Given the description of an element on the screen output the (x, y) to click on. 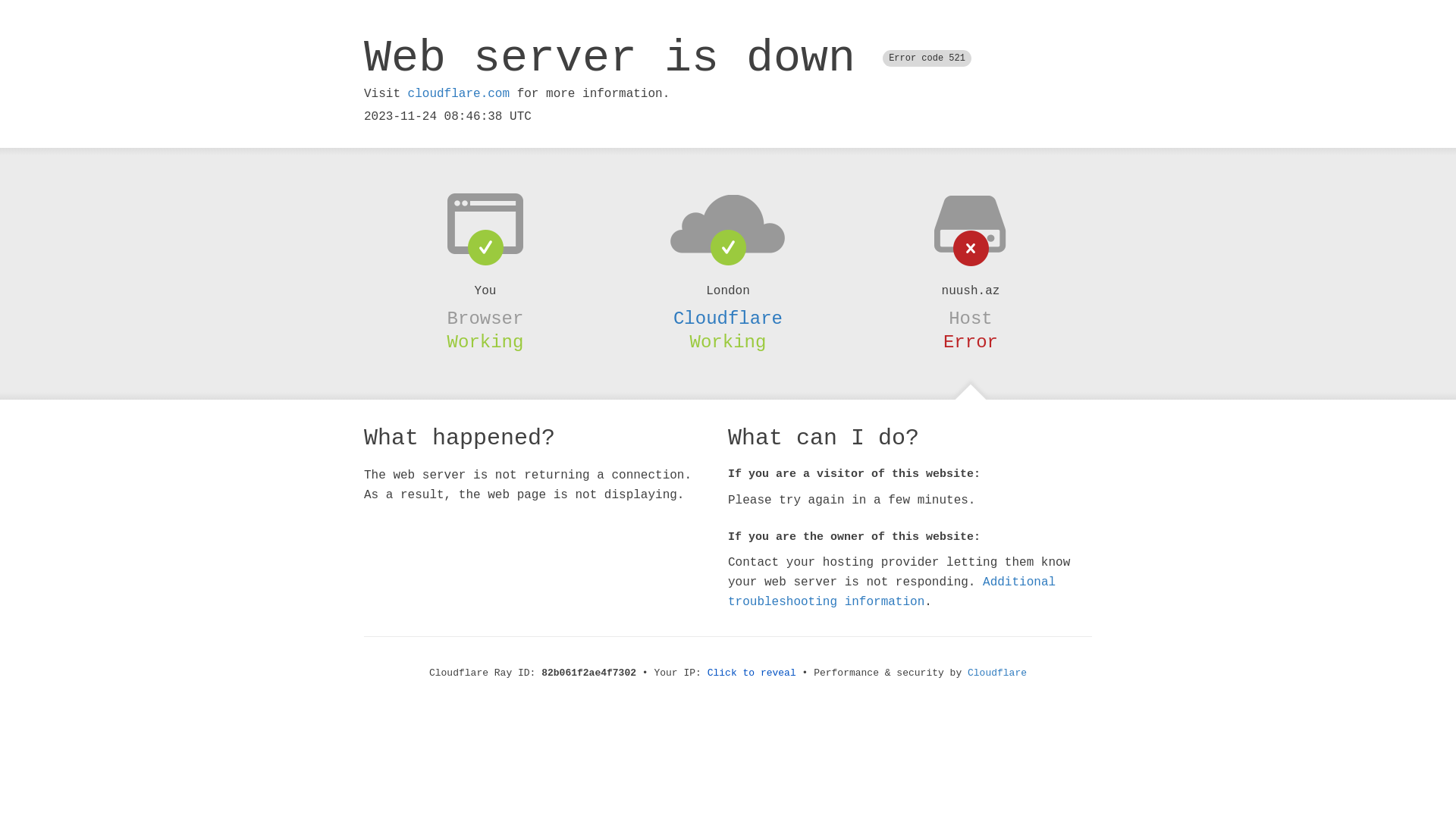
Additional troubleshooting information Element type: text (891, 591)
Click to reveal Element type: text (751, 672)
Cloudflare Element type: text (727, 318)
Cloudflare Element type: text (996, 672)
cloudflare.com Element type: text (458, 93)
